Given the description of an element on the screen output the (x, y) to click on. 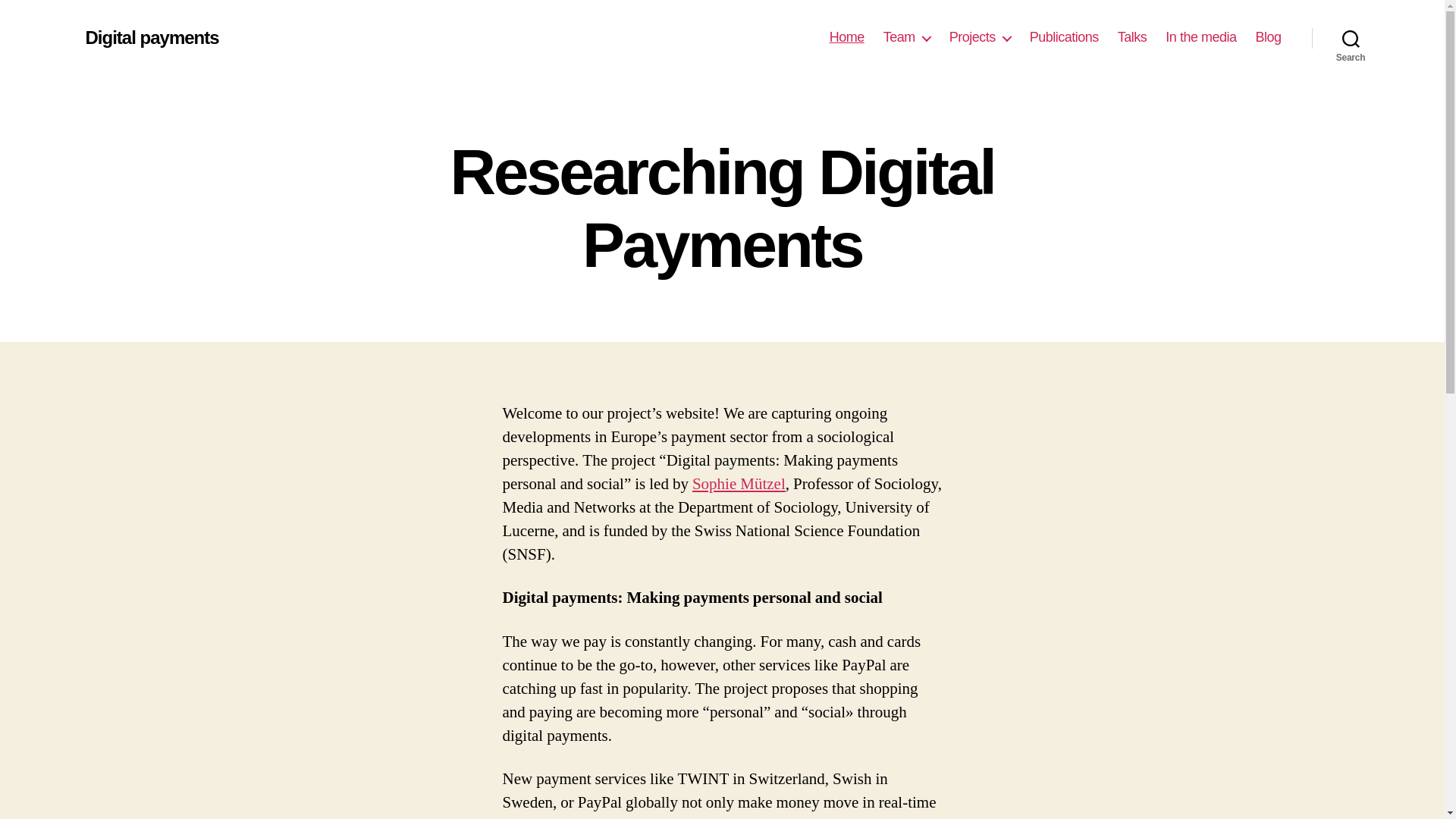
Digital payments (151, 37)
Blog (1268, 37)
Projects (979, 37)
In the media (1201, 37)
Home (846, 37)
Talks (1132, 37)
Search (1350, 37)
Publications (1064, 37)
Team (906, 37)
